Given the description of an element on the screen output the (x, y) to click on. 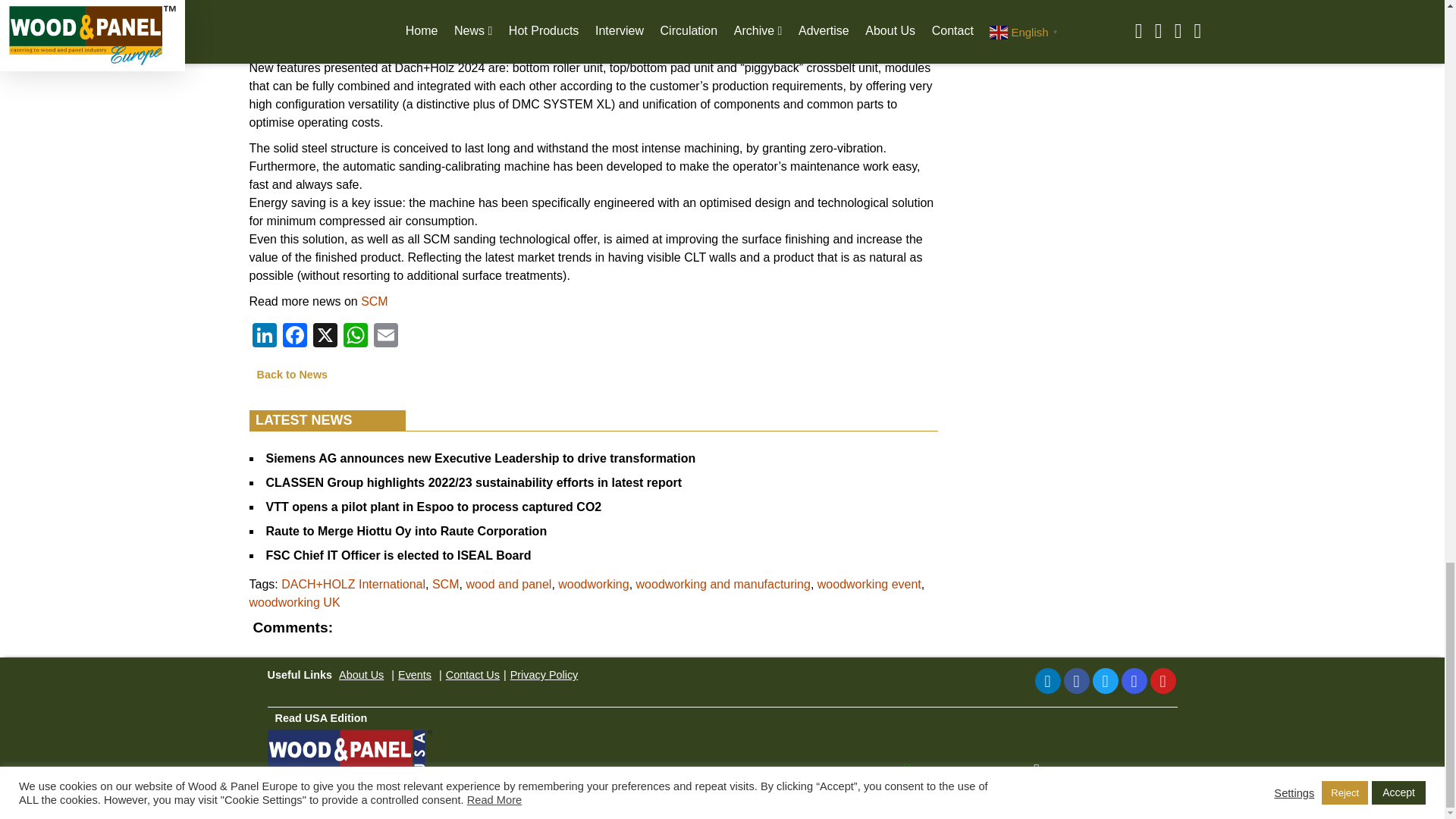
LinkedIn (1046, 680)
X (323, 336)
WhatsApp (354, 336)
Email (384, 336)
LinkedIn (263, 336)
Facebook (293, 336)
